Given the description of an element on the screen output the (x, y) to click on. 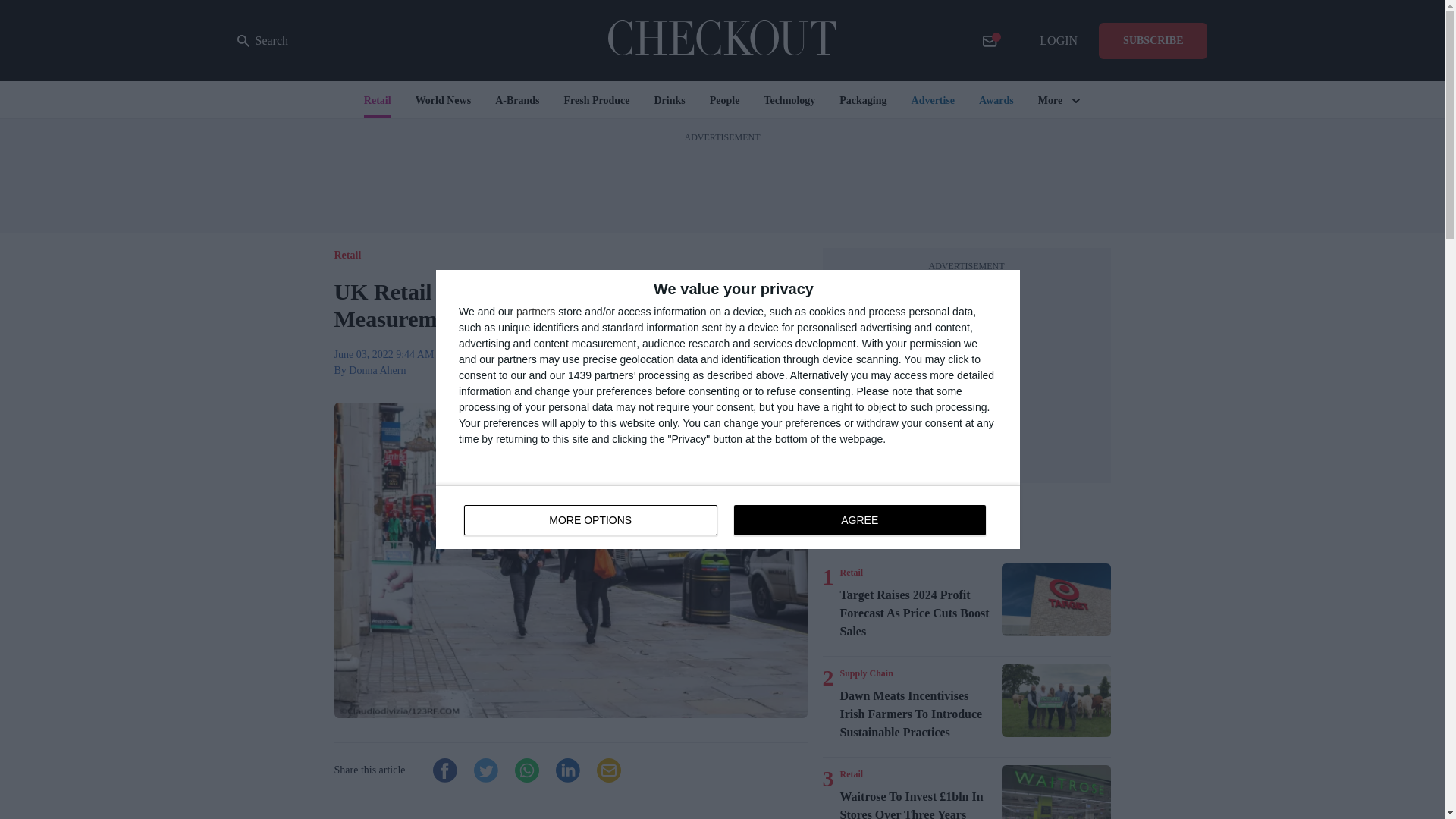
Target Raises 2024 Profit Forecast As Price Cuts Boost Sales (1055, 599)
Retail (851, 774)
Target Raises 2024 Profit Forecast As Price Cuts Boost Sales (917, 613)
Supply Chain (866, 673)
Search (261, 40)
Retail (851, 572)
